Given the description of an element on the screen output the (x, y) to click on. 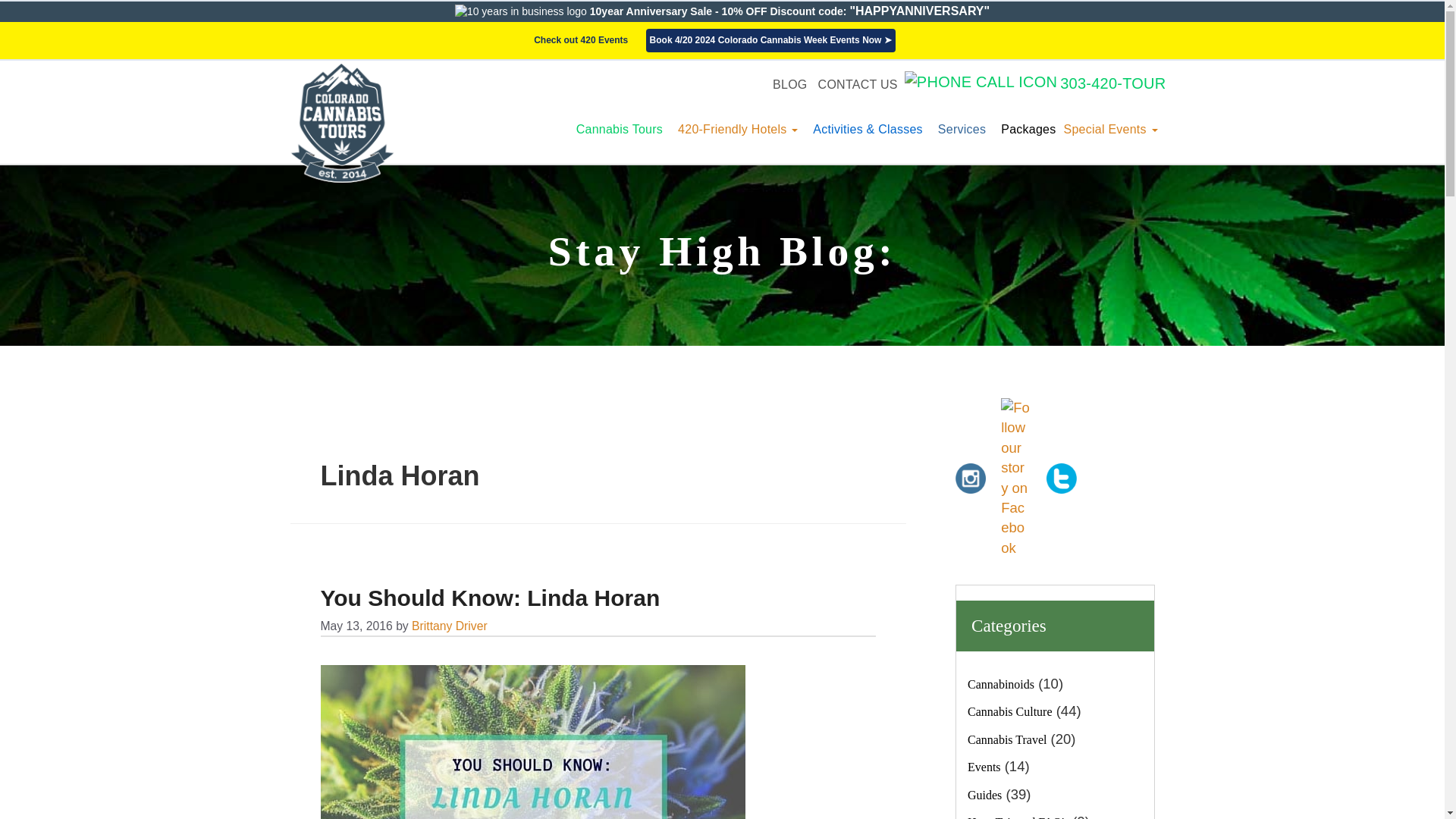
Services (961, 129)
You Should Know: Linda Horan (489, 597)
CONTACT US (858, 83)
Special Events (1109, 129)
Packages (1023, 129)
303-420-TOUR (1035, 83)
Cannabis Tours (619, 129)
420-Friendly Hotels (737, 129)
Call Us 303-420-8687 (1035, 83)
View all posts by Brittany Driver (449, 625)
Go to homepage (341, 122)
Brittany Driver (449, 625)
BLOG (789, 83)
